Given the description of an element on the screen output the (x, y) to click on. 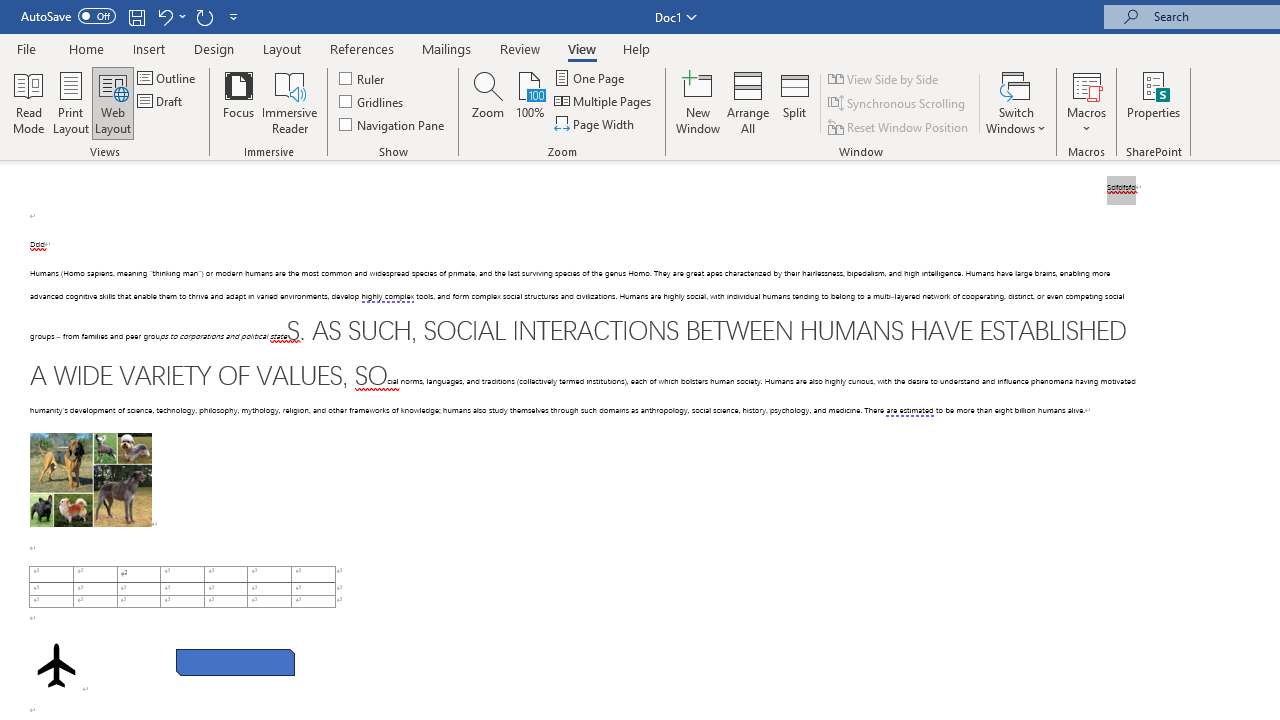
100% (529, 102)
Reset Window Position (900, 126)
Switch Windows (1016, 102)
Ruler (362, 78)
Outline (168, 78)
Undo Paragraph Alignment (164, 15)
One Page (590, 78)
Synchronous Scrolling (898, 103)
